Given the description of an element on the screen output the (x, y) to click on. 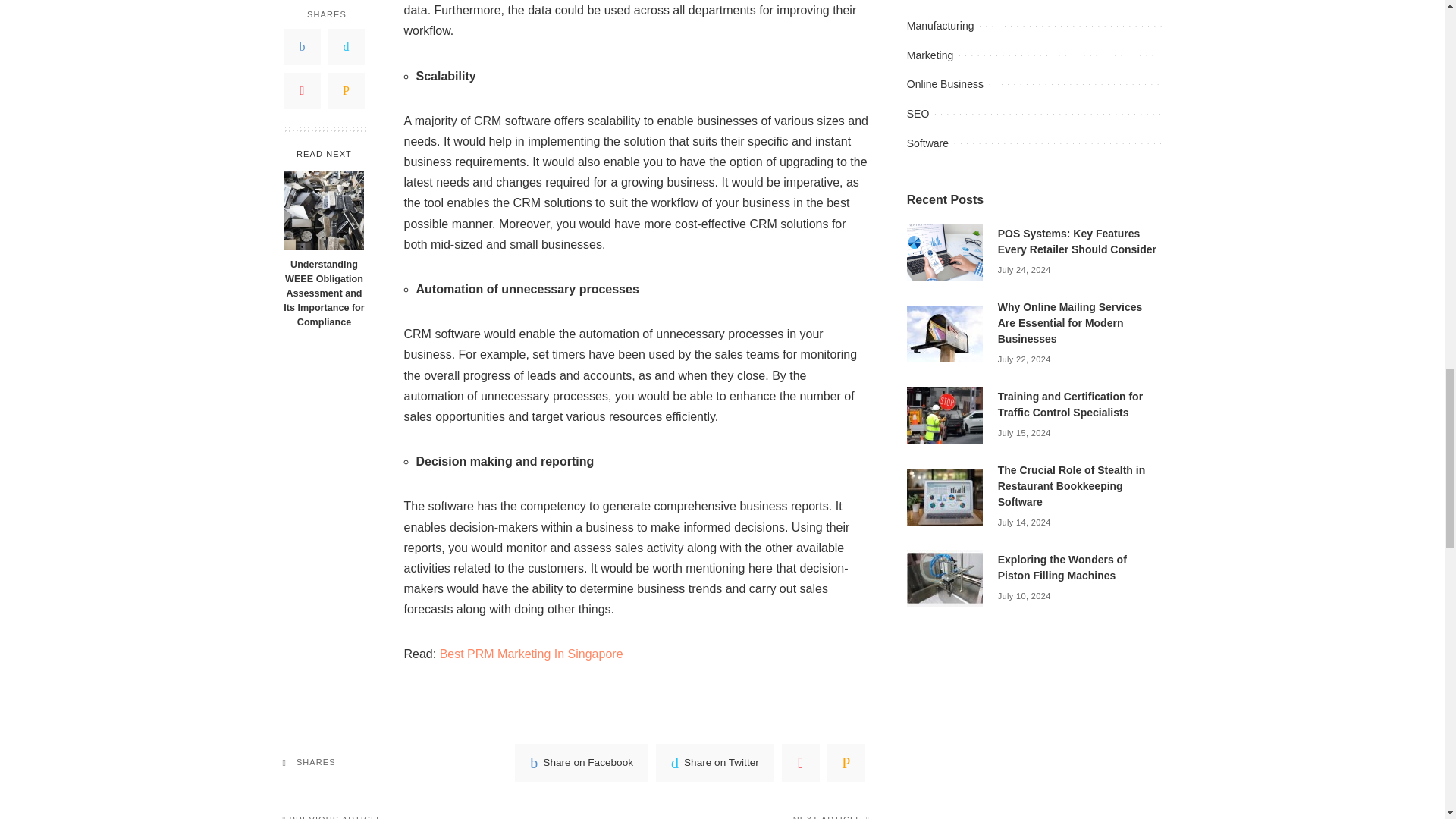
Share on Twitter (715, 762)
POS Systems: Key Features Every Retailer Should Consider (944, 250)
Share on Facebook (581, 762)
Best PRM Marketing In Singapore (531, 653)
